Given the description of an element on the screen output the (x, y) to click on. 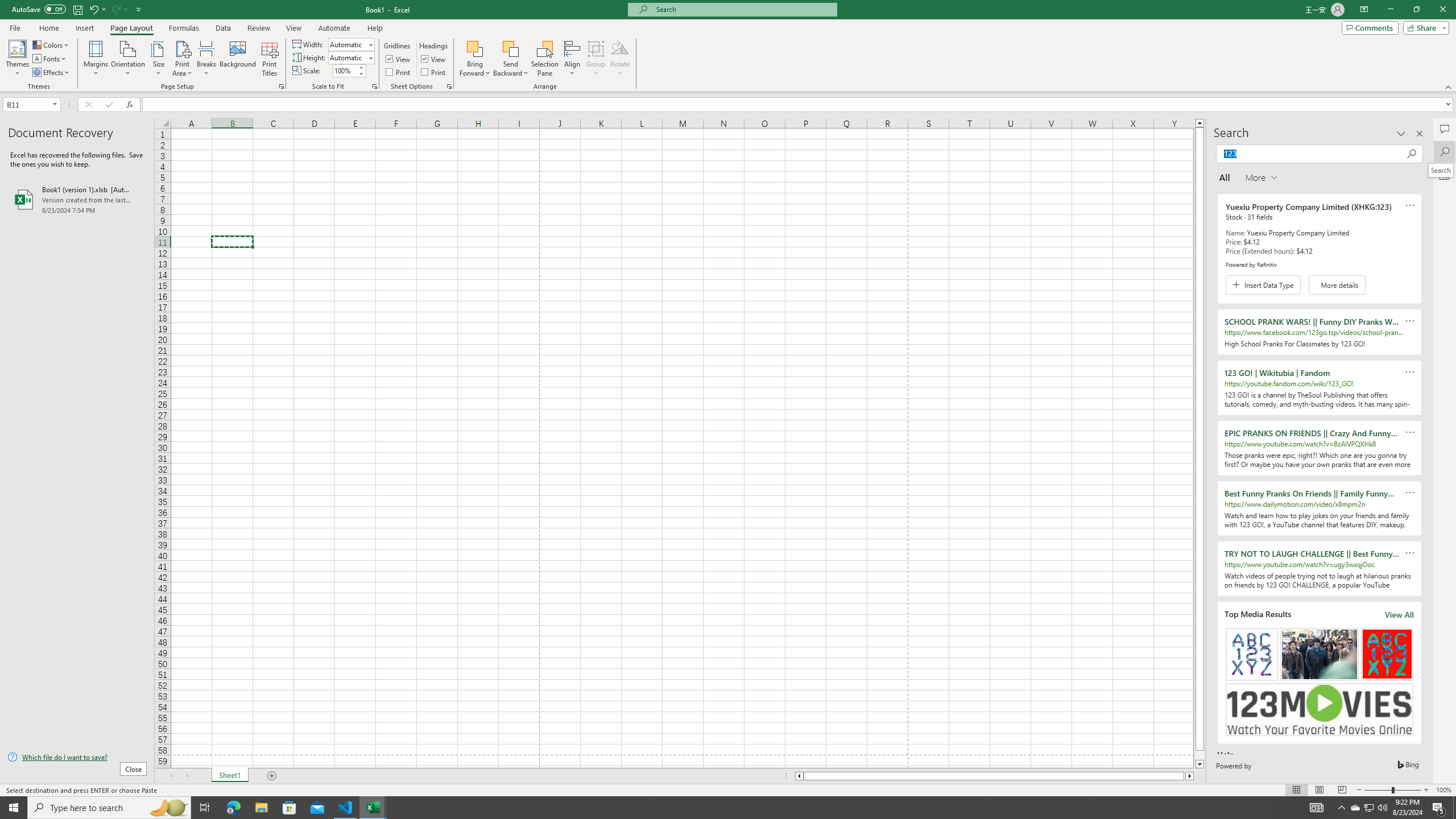
Task Pane Options (1400, 133)
Search (1440, 169)
Breaks (206, 58)
Search (1444, 151)
Send Backward (510, 48)
More (360, 67)
